Given the description of an element on the screen output the (x, y) to click on. 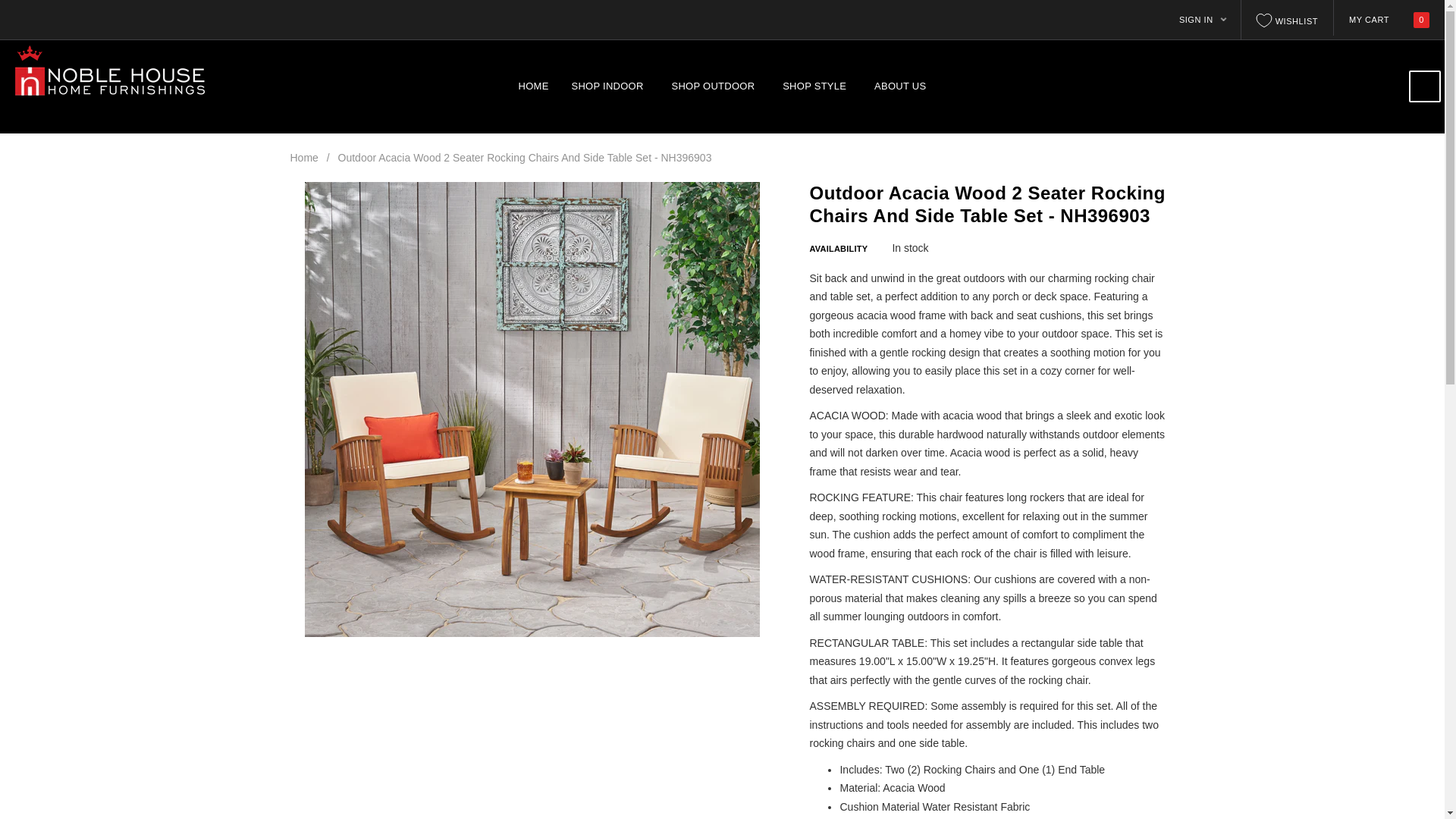
View Wishlist (1287, 19)
